Given the description of an element on the screen output the (x, y) to click on. 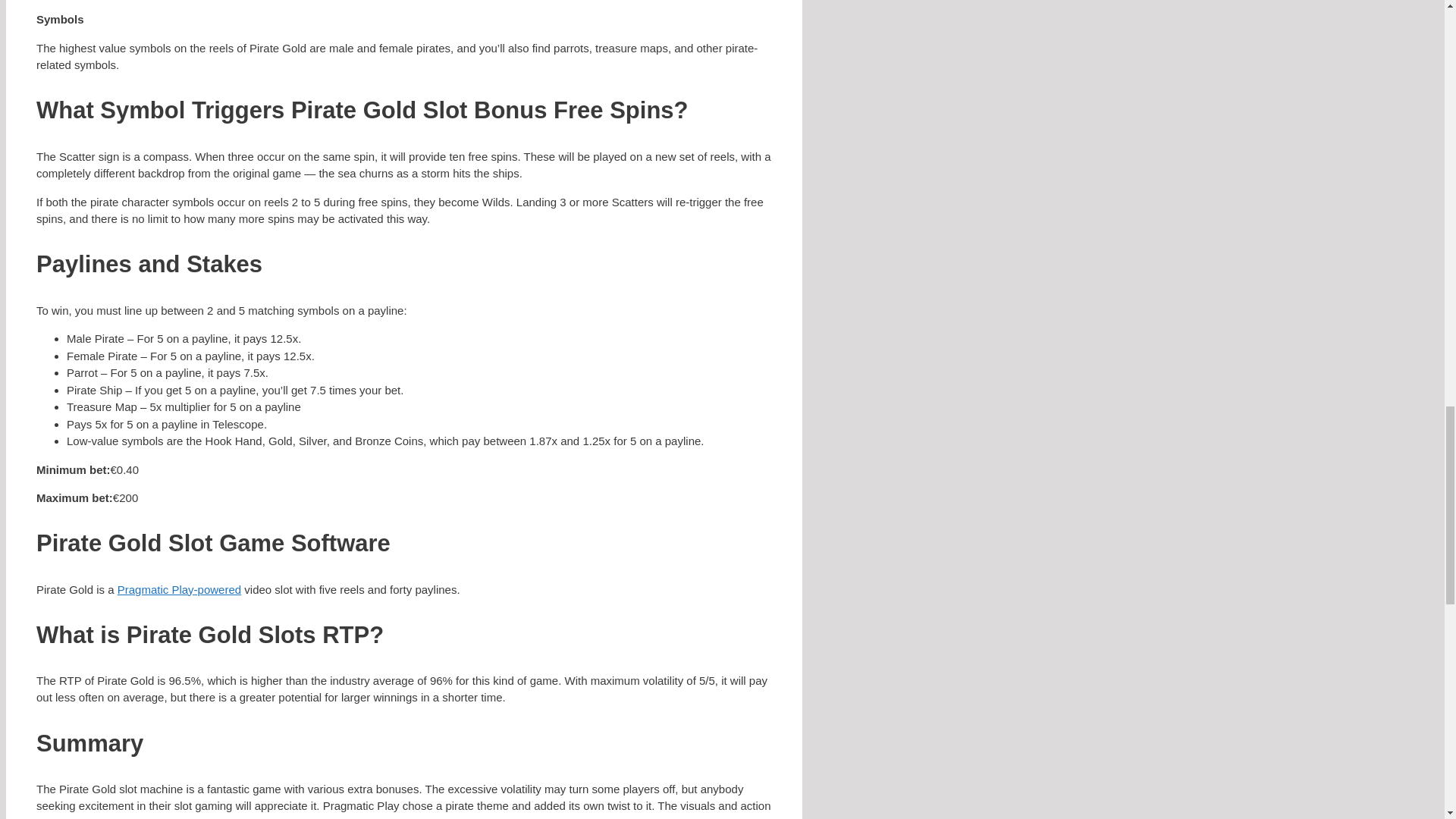
Pragmatic Play-powered (179, 588)
